Given the description of an element on the screen output the (x, y) to click on. 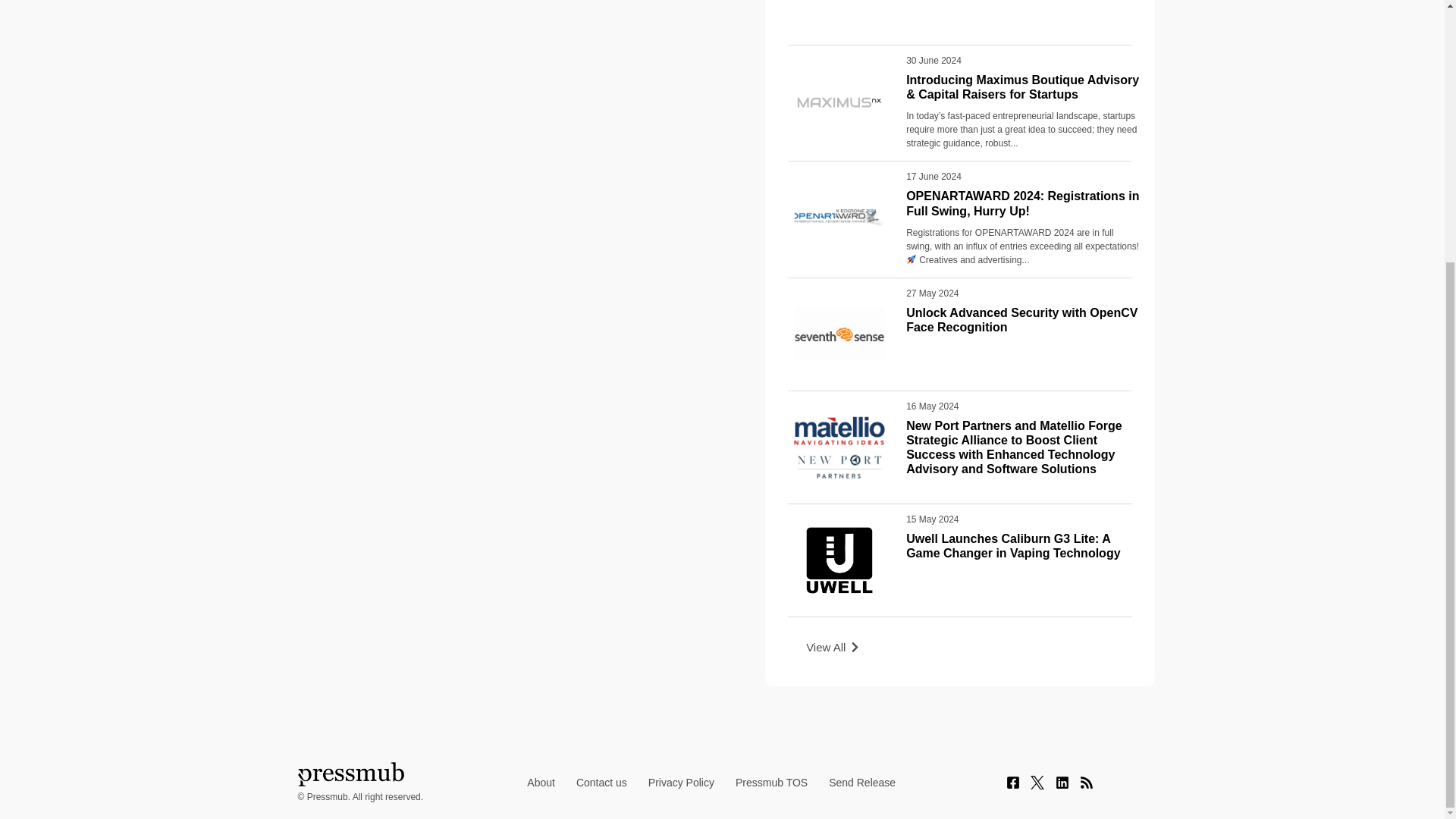
OPENARTAWARD 2024: Registrations in Full Swing, Hurry Up! (1021, 203)
Pressmub TOS (771, 782)
Send Release (861, 782)
View All (833, 647)
Privacy Policy (681, 782)
Contact us (601, 782)
Unlock Advanced Security with OpenCV Face Recognition (1021, 319)
About (541, 782)
